Given the description of an element on the screen output the (x, y) to click on. 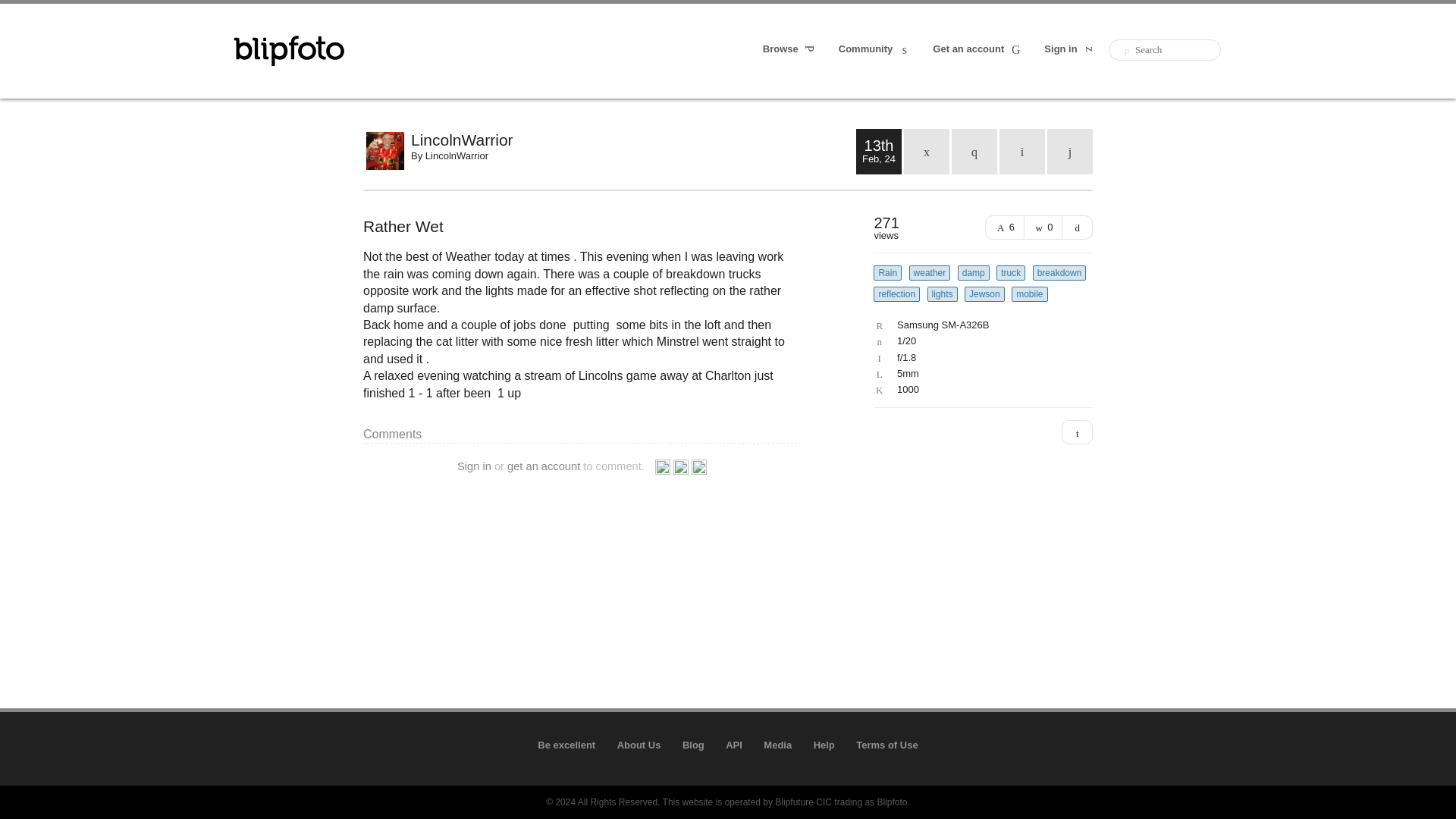
One year ago (974, 151)
View map (1077, 432)
LincolnWarrior (633, 139)
Rain (887, 272)
weather (929, 272)
get an account (542, 466)
damp (974, 272)
ISO (978, 389)
Next (1069, 151)
Sign in (474, 466)
